Given the description of an element on the screen output the (x, y) to click on. 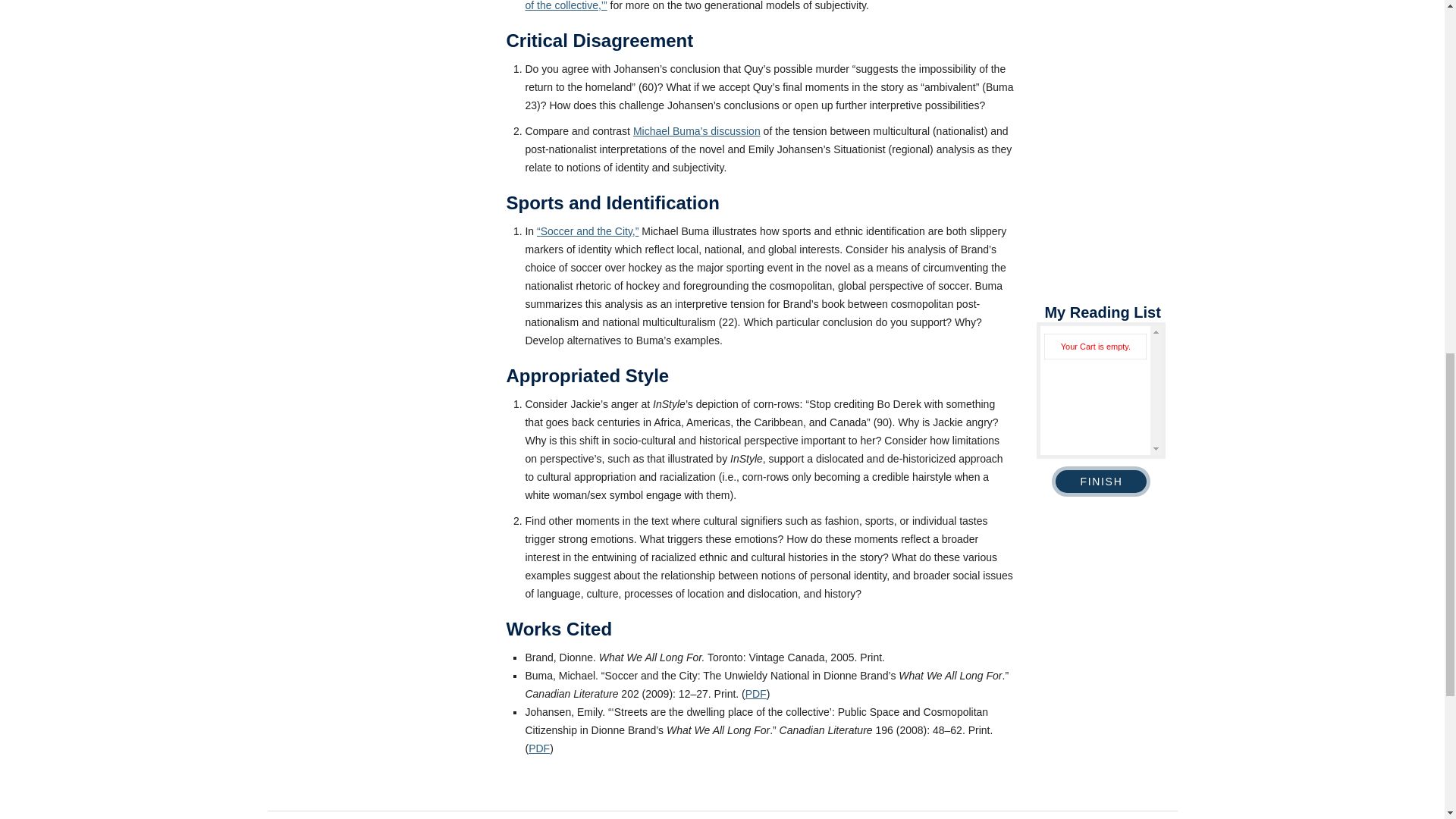
Submit (328, 387)
Soccer and the City, (588, 230)
PDF (539, 747)
Streets are the dwelling place of the collective, (763, 5)
PDF (756, 693)
